Given the description of an element on the screen output the (x, y) to click on. 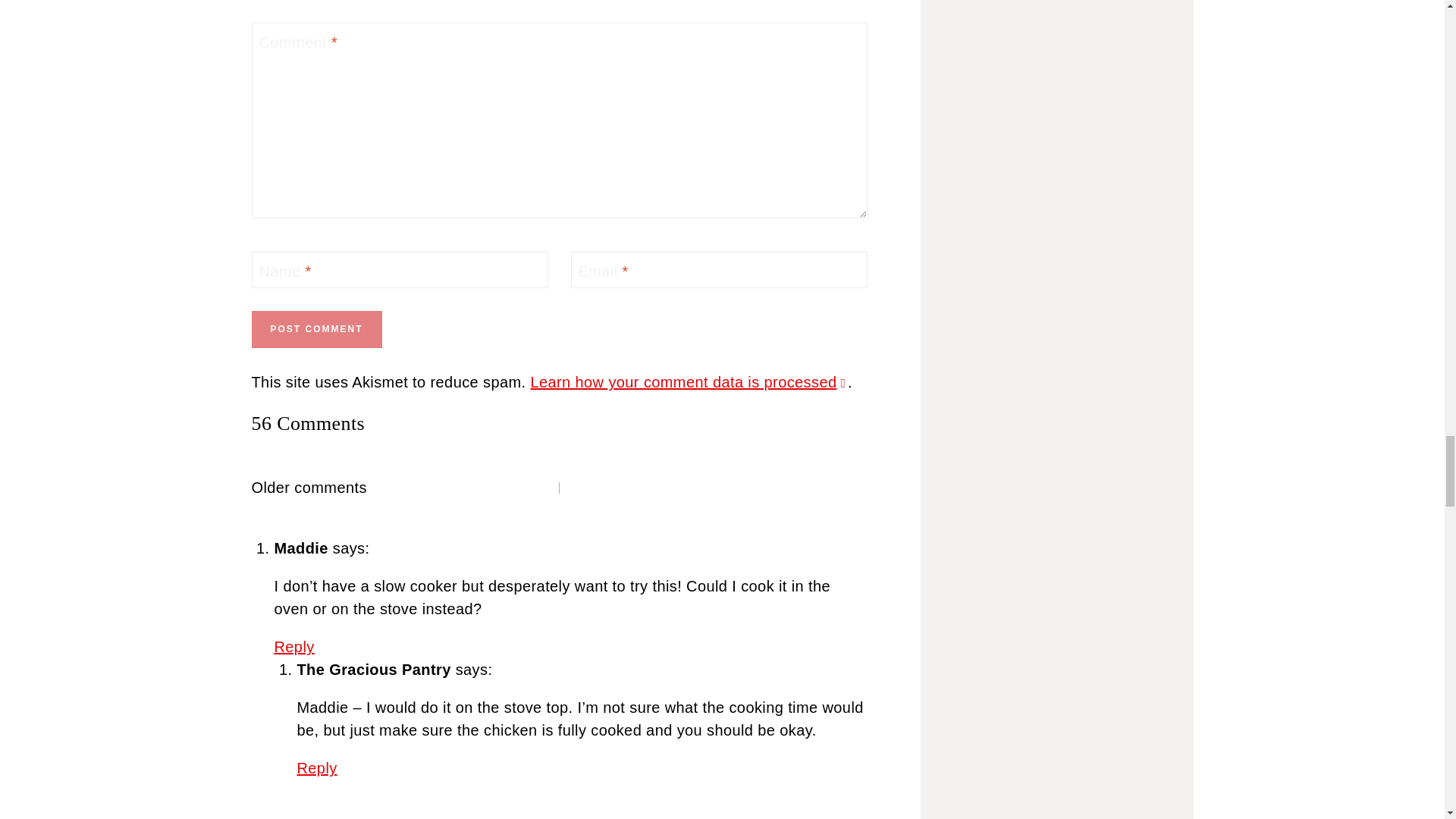
Post Comment (316, 329)
